Given the description of an element on the screen output the (x, y) to click on. 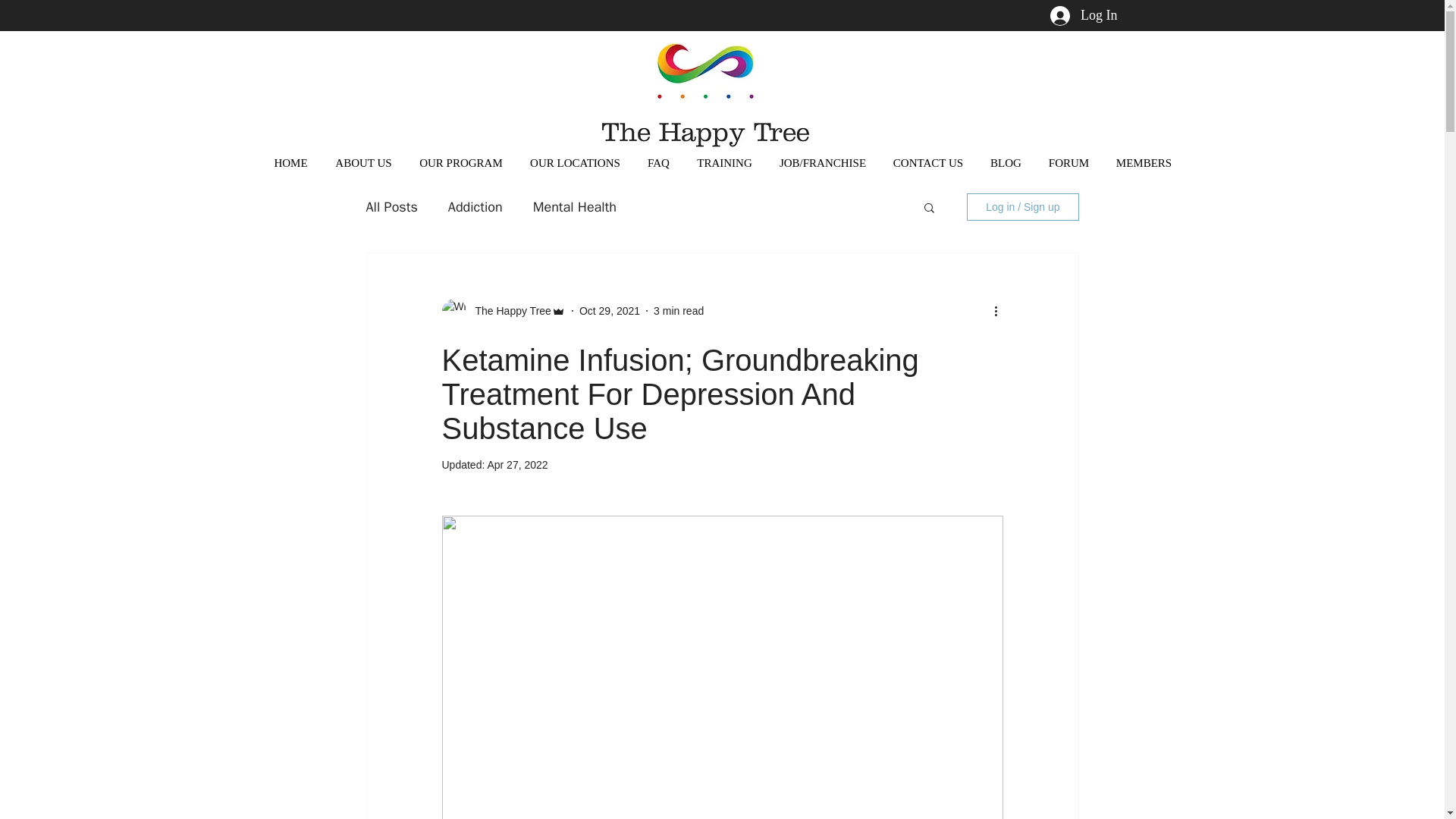
MEMBERS (1143, 162)
FAQ (657, 162)
Addiction (475, 207)
FORUM (1067, 162)
All Posts (390, 207)
HOME (290, 162)
CONTACT US (927, 162)
OUR LOCATIONS (574, 162)
The Happy Tree (507, 311)
OUR PROGRAM (459, 162)
3 min read (678, 310)
Mental Health (573, 207)
Log In (1083, 15)
BLOG (1005, 162)
Oct 29, 2021 (609, 310)
